Given the description of an element on the screen output the (x, y) to click on. 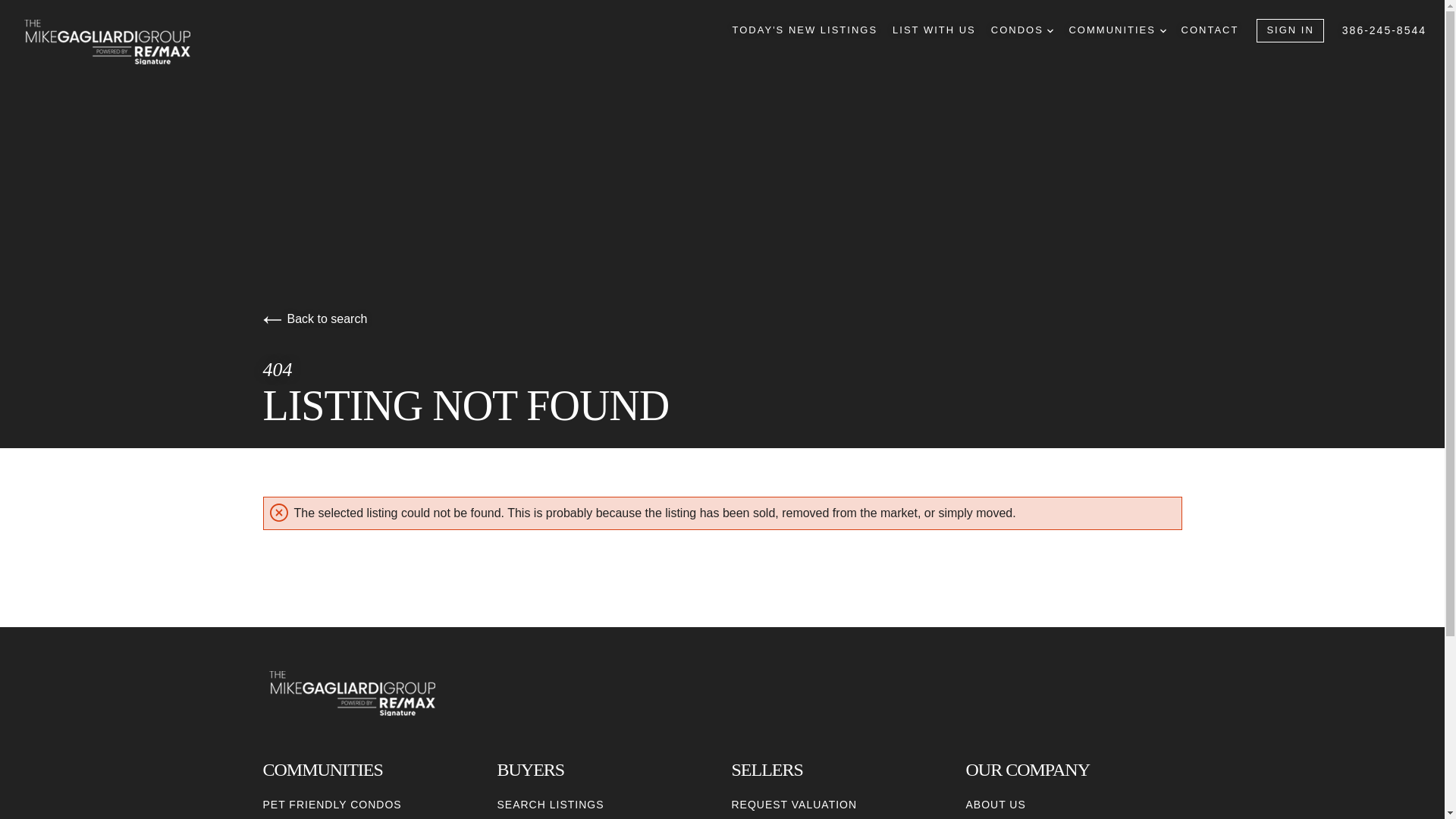
DROPDOWN ARROW (1049, 30)
TODAY'S NEW LISTINGS (804, 30)
CONDOS DROPDOWN ARROW (1022, 30)
COMMUNITIES DROPDOWN ARROW (1117, 30)
DROPDOWN ARROW (1163, 30)
LIST WITH US (933, 30)
CONTACT (1209, 30)
